Given the description of an element on the screen output the (x, y) to click on. 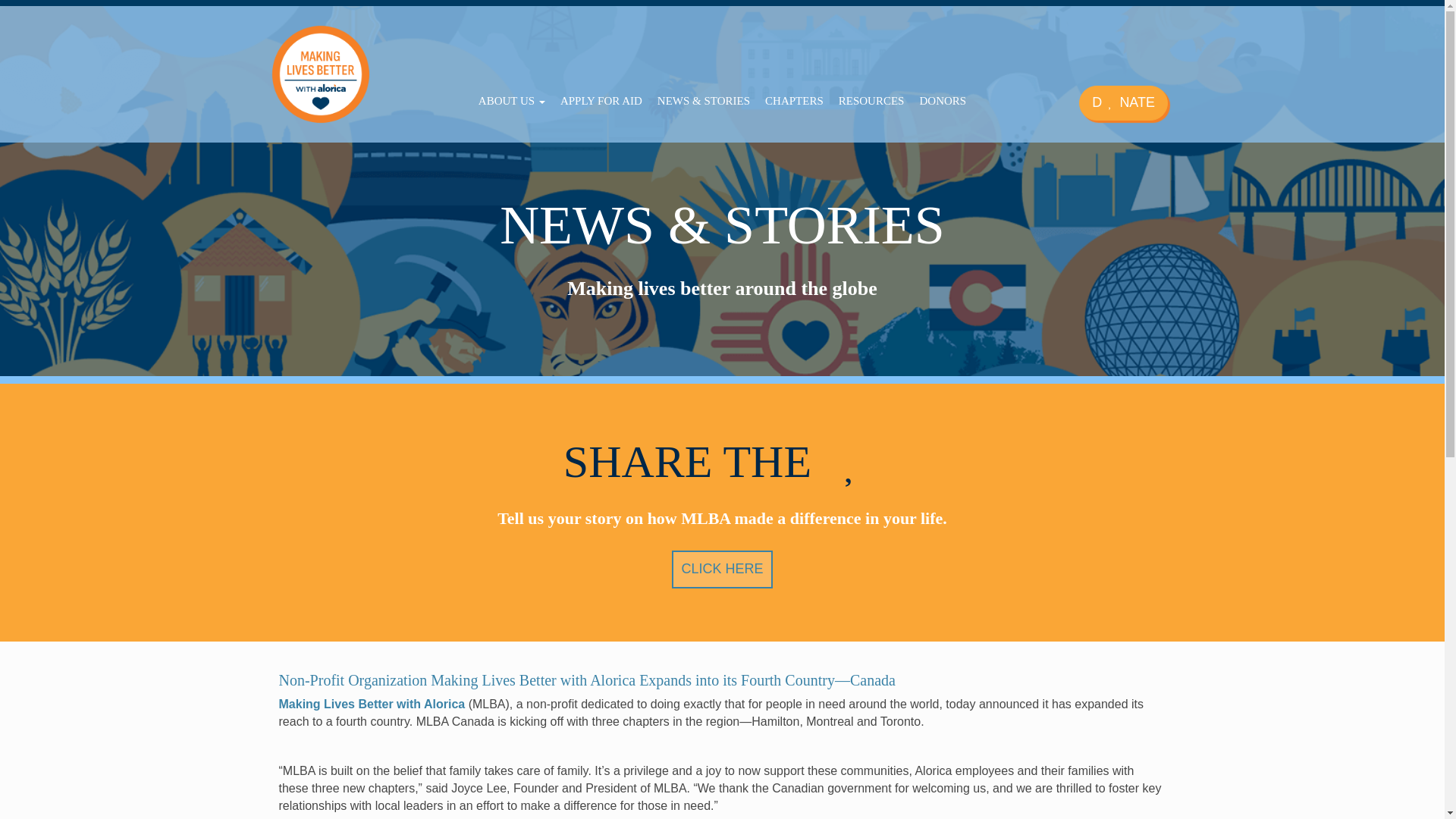
RESOURCES (871, 100)
DONORS (942, 100)
CHAPTERS (794, 100)
APPLY FOR AID (601, 100)
Resources (871, 100)
Making Lives Better with Alorica (372, 703)
Ways to Help (1122, 102)
Donors (942, 100)
CLICK HERE (721, 569)
About Us (511, 100)
ABOUT US (511, 100)
DNATE (1122, 102)
Apply for Aid (601, 100)
Chapters (794, 100)
